Given the description of an element on the screen output the (x, y) to click on. 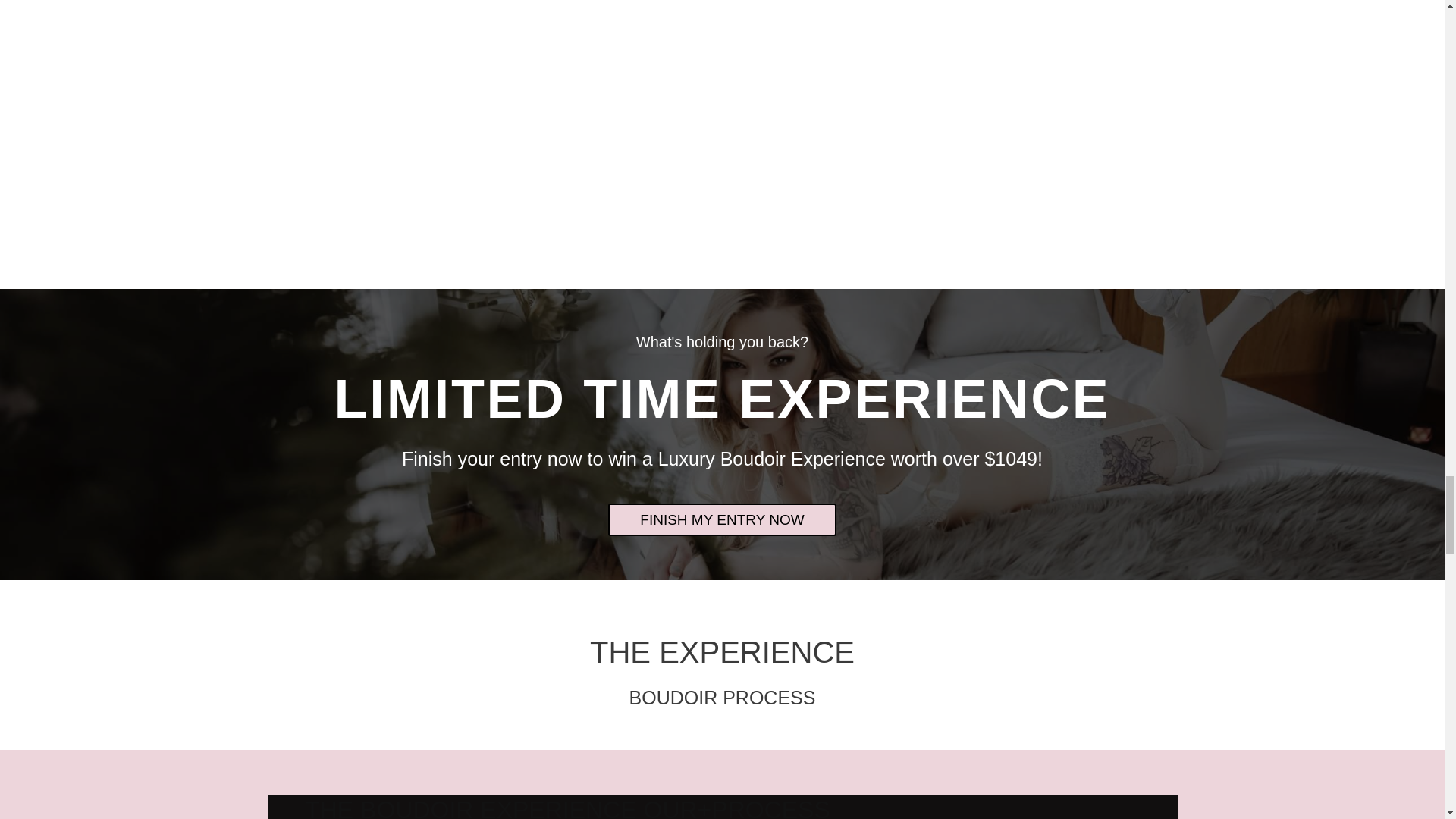
FINISH MY ENTRY NOW (721, 519)
